Given the description of an element on the screen output the (x, y) to click on. 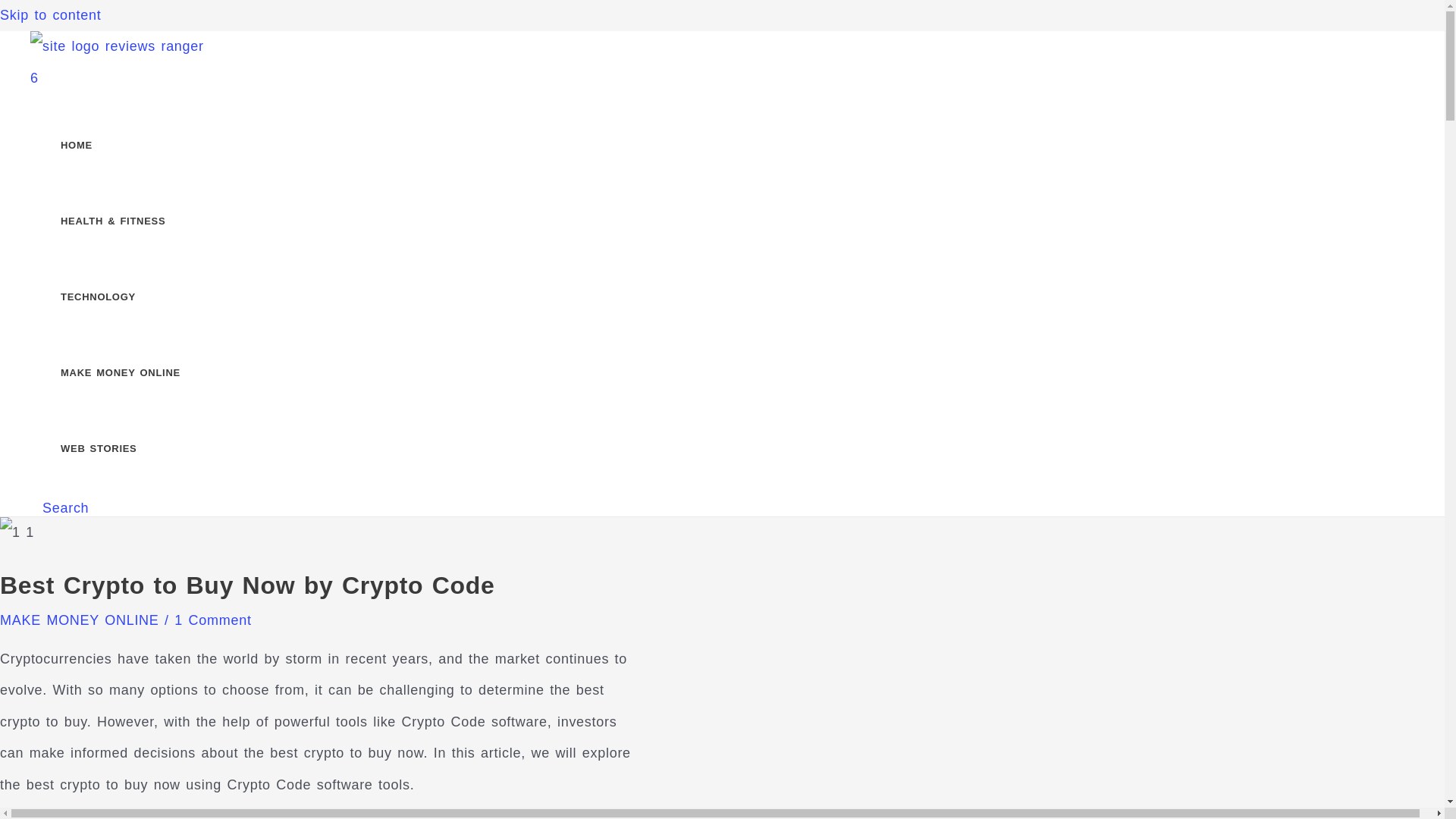
HOME (133, 145)
WEB STORIES (133, 448)
Skip to content (50, 14)
MAKE MONEY ONLINE (79, 620)
1 Comment (212, 620)
Search (65, 508)
TECHNOLOGY (133, 296)
MAKE MONEY ONLINE (133, 372)
Skip to content (50, 14)
